Given the description of an element on the screen output the (x, y) to click on. 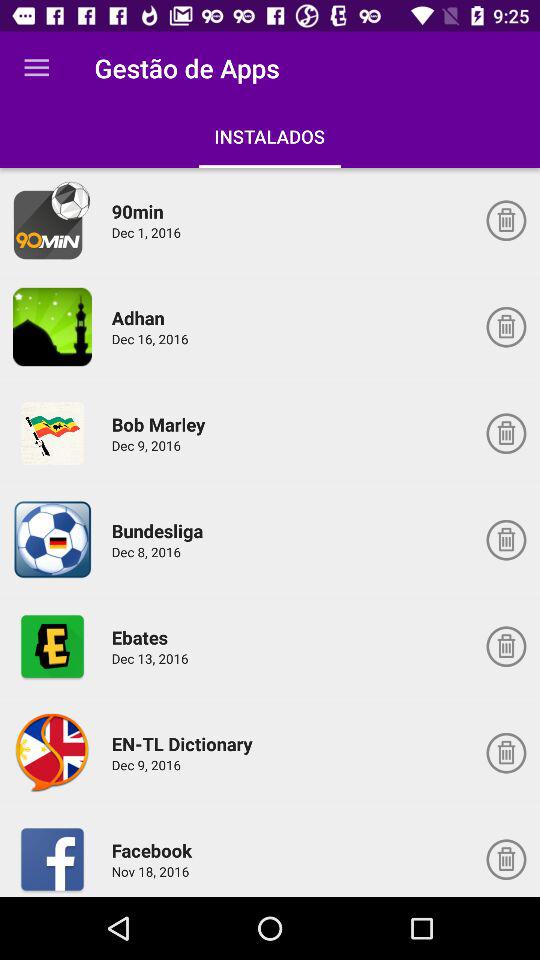
open ebates app (52, 646)
